Given the description of an element on the screen output the (x, y) to click on. 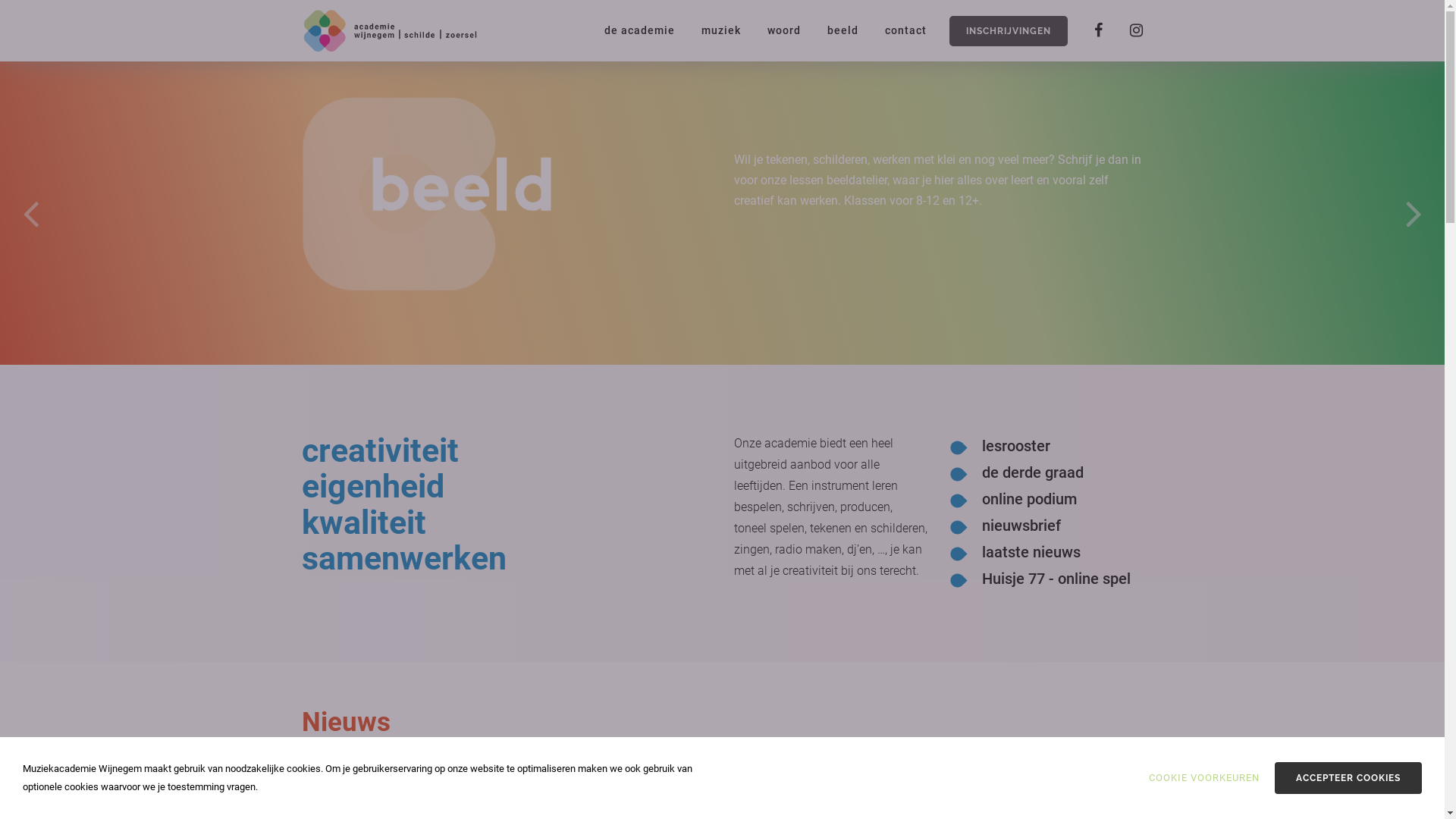
de derde graad Element type: text (1031, 472)
woord Element type: text (770, 26)
nieuwsbrief Element type: text (1020, 525)
Huisje 77 - online spel Element type: text (1055, 578)
contact Element type: text (892, 26)
muziek Element type: text (707, 26)
lesrooster Element type: text (1015, 445)
beeld Element type: text (829, 26)
de academie Element type: text (625, 26)
INSCHRIJVINGEN Element type: text (1008, 30)
laatste nieuws Element type: text (1030, 551)
online podium Element type: text (1028, 498)
